Given the description of an element on the screen output the (x, y) to click on. 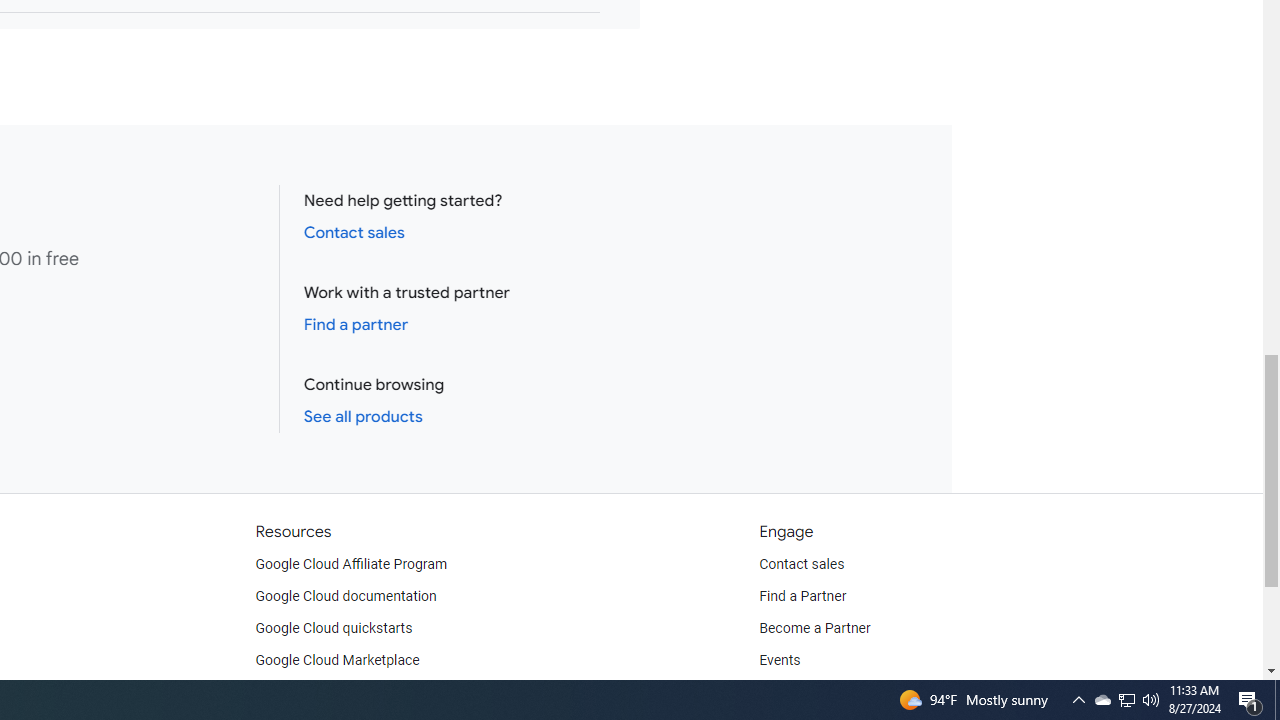
Contact sales (801, 564)
Google Cloud documentation (345, 596)
Find a partner (356, 323)
Become a Partner (814, 628)
Podcasts (788, 692)
Find a Partner (803, 596)
Google Cloud Marketplace (336, 659)
Learn about cloud computing (345, 692)
Google Cloud quickstarts (333, 628)
Google Cloud Affiliate Program (351, 564)
Events (780, 659)
See all products (362, 416)
